Given the description of an element on the screen output the (x, y) to click on. 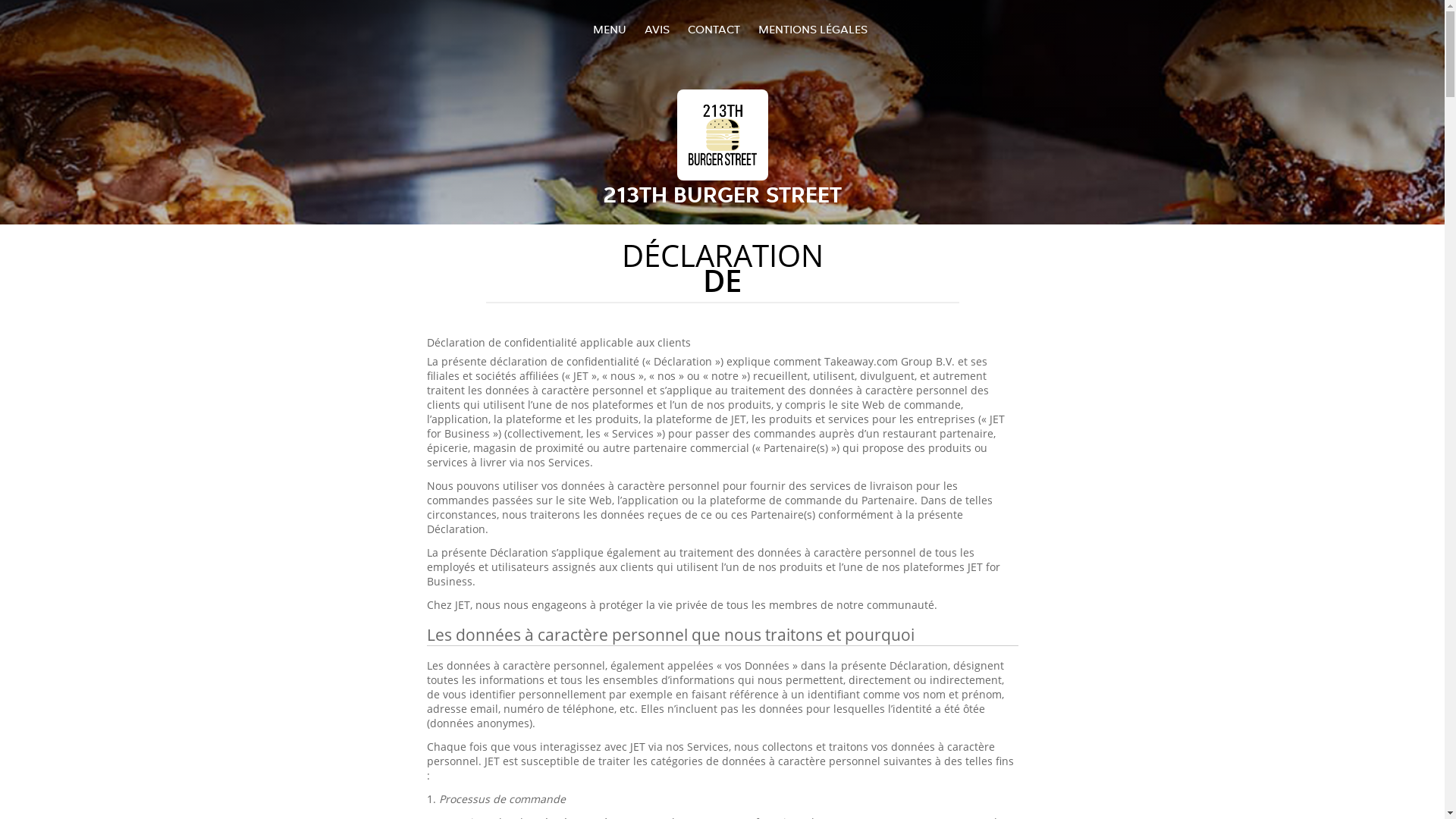
CONTACT Element type: text (713, 29)
MENU Element type: text (609, 29)
AVIS Element type: text (656, 29)
